Given the description of an element on the screen output the (x, y) to click on. 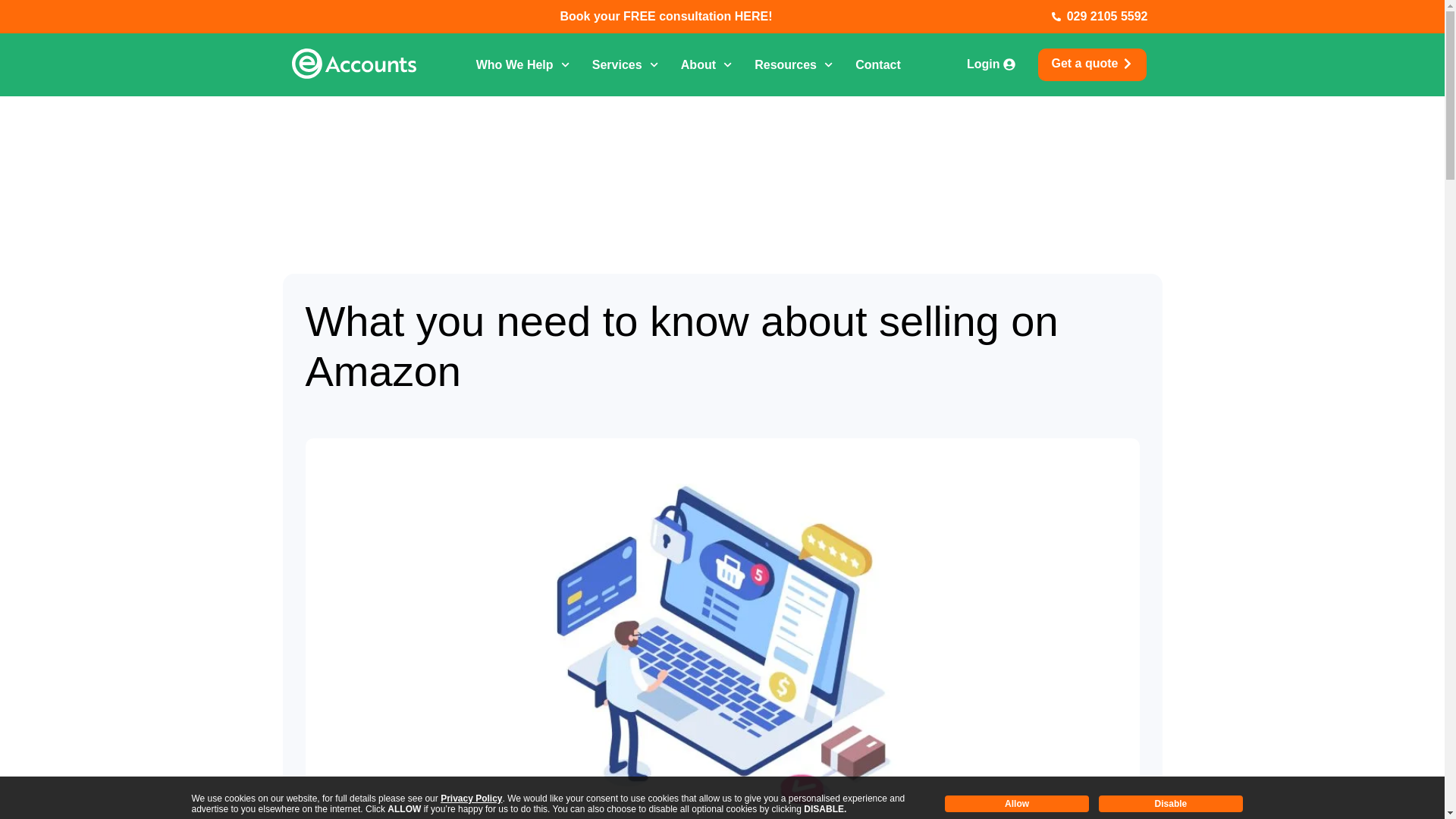
Services (625, 63)
About (706, 63)
Who We Help (522, 63)
Contact (878, 63)
029 2105 5592 (1031, 16)
Book your FREE consultation HERE! (666, 15)
Resources (793, 63)
